Given the description of an element on the screen output the (x, y) to click on. 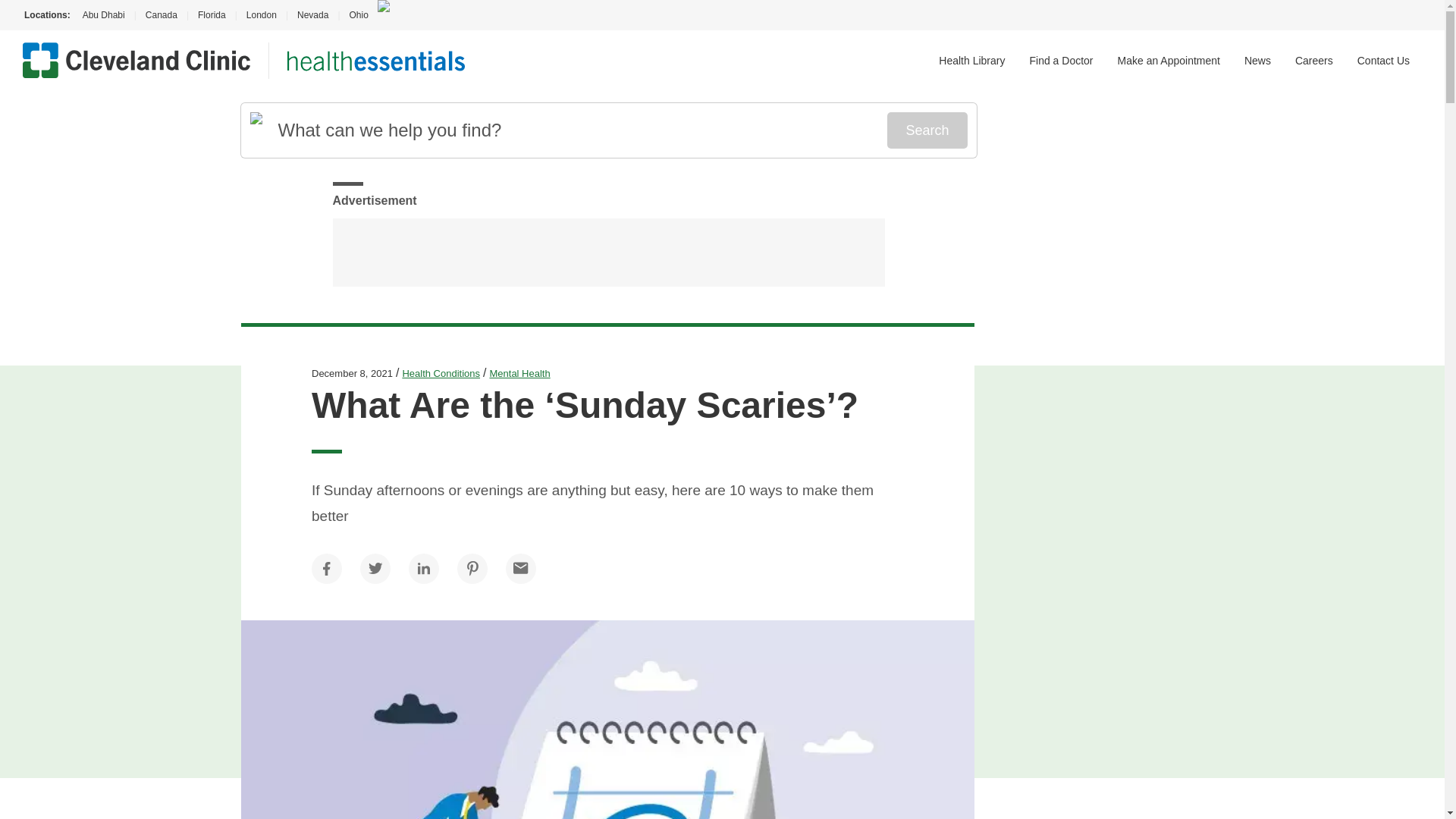
Contact Us (1382, 60)
Ohio (358, 15)
Careers (1314, 60)
London (261, 15)
Find a Doctor (1061, 60)
News (1257, 60)
Health Library (971, 60)
Canada (161, 15)
Nevada (312, 15)
Florida (211, 15)
